Given the description of an element on the screen output the (x, y) to click on. 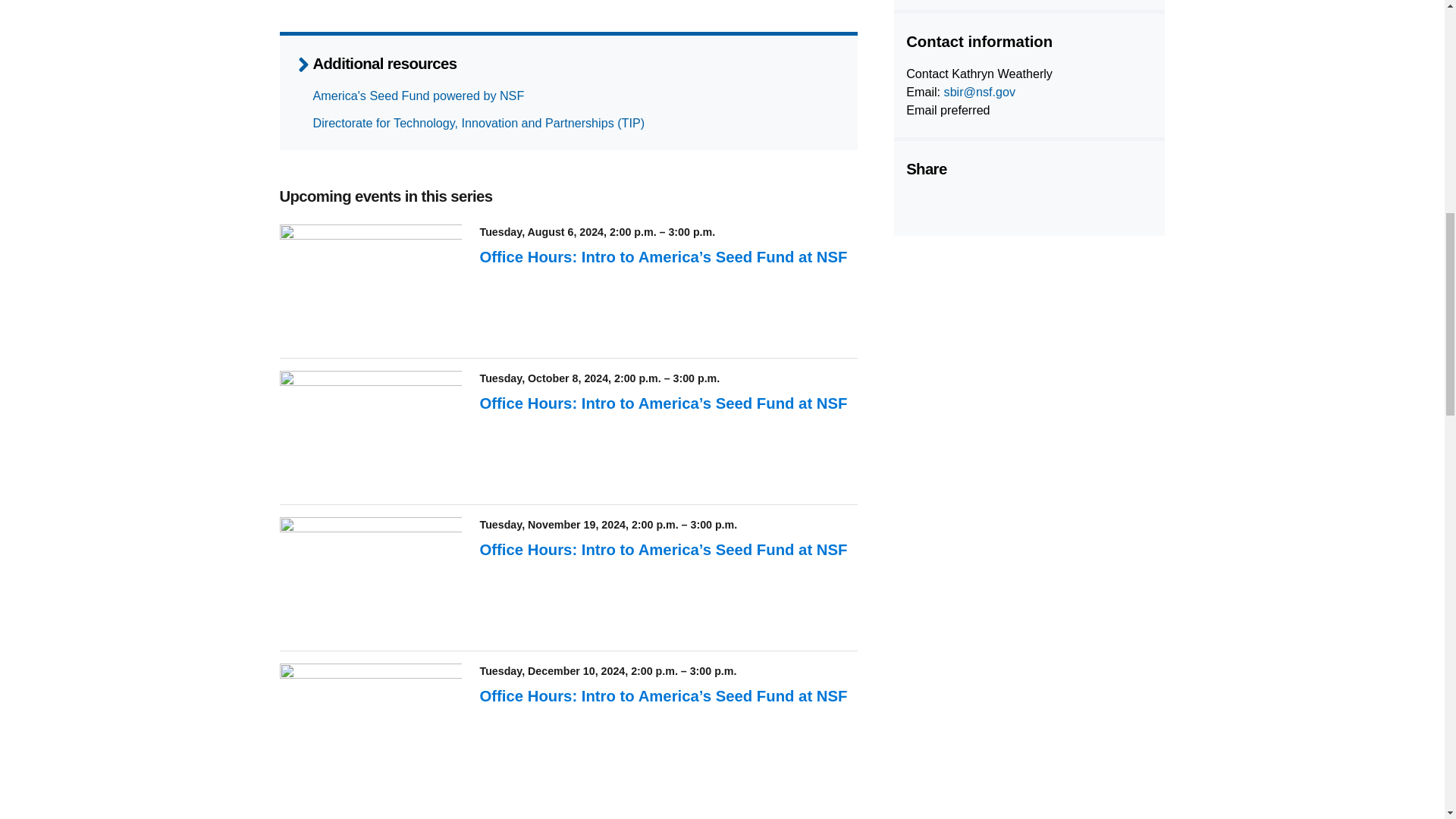
America's Seed Fund powered by NSF (418, 95)
Email (1030, 204)
LinkedIn (992, 204)
Facebook (917, 204)
